Given the description of an element on the screen output the (x, y) to click on. 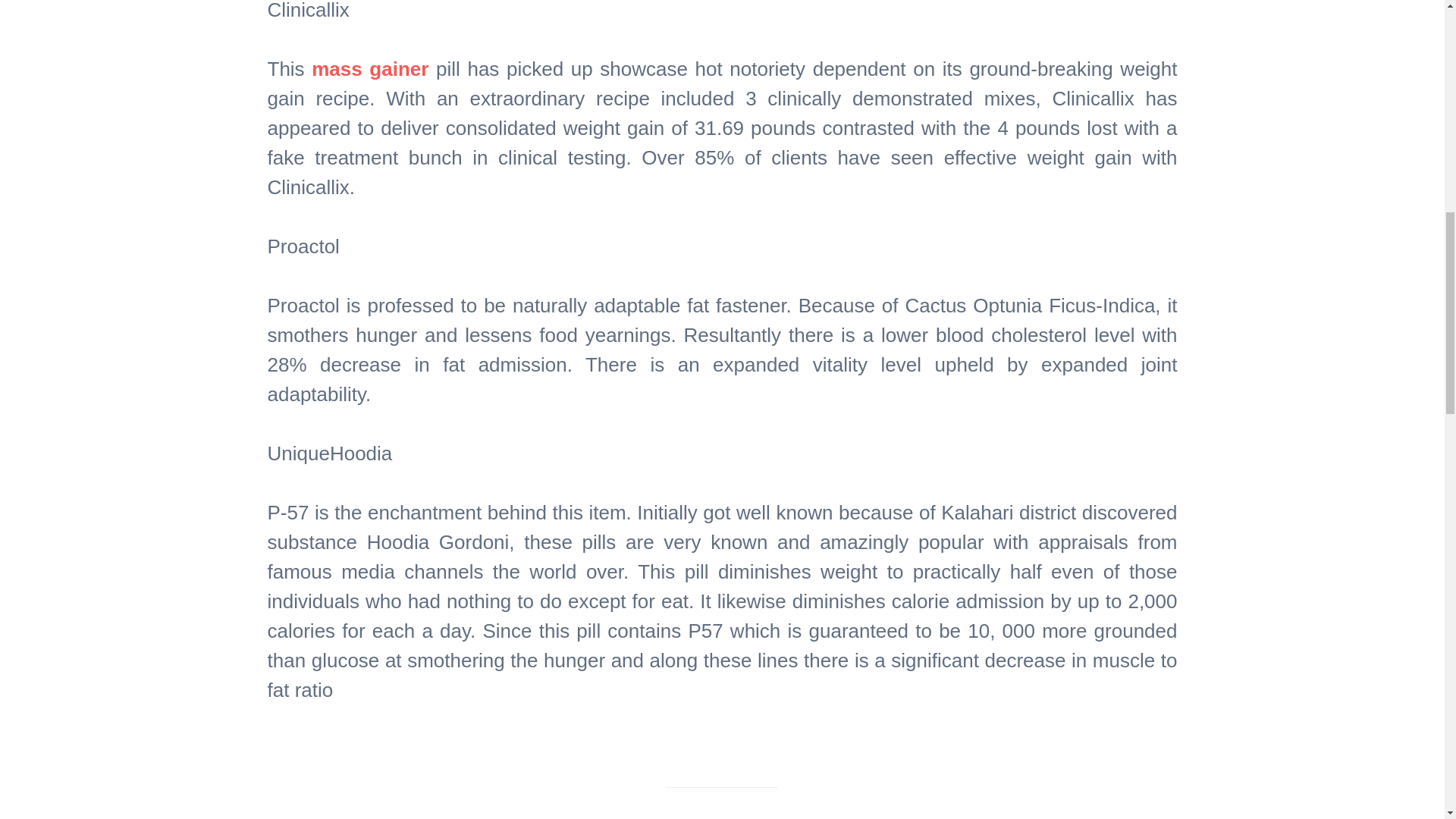
mass gainer (369, 68)
